Given the description of an element on the screen output the (x, y) to click on. 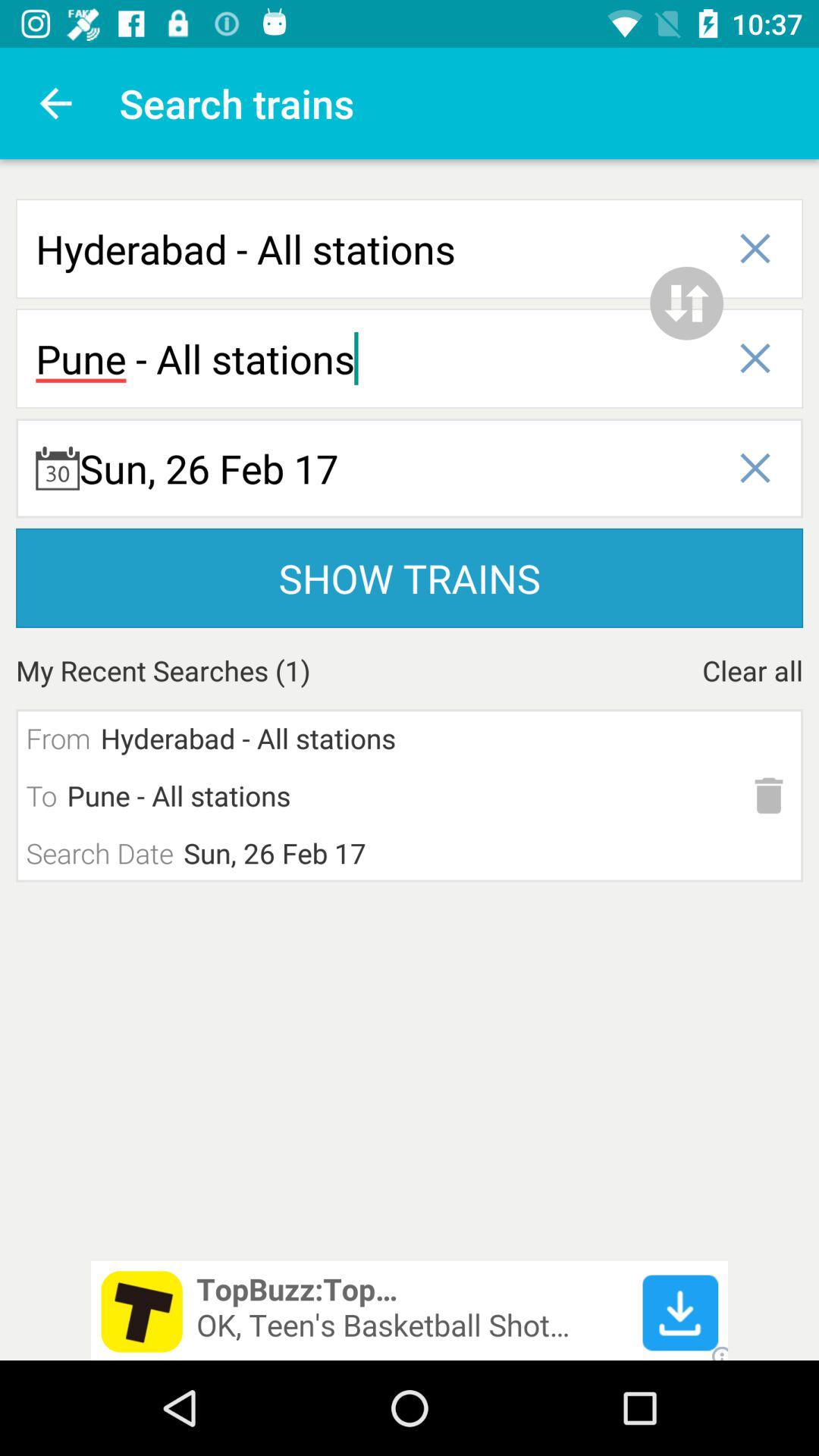
delete (768, 795)
